Given the description of an element on the screen output the (x, y) to click on. 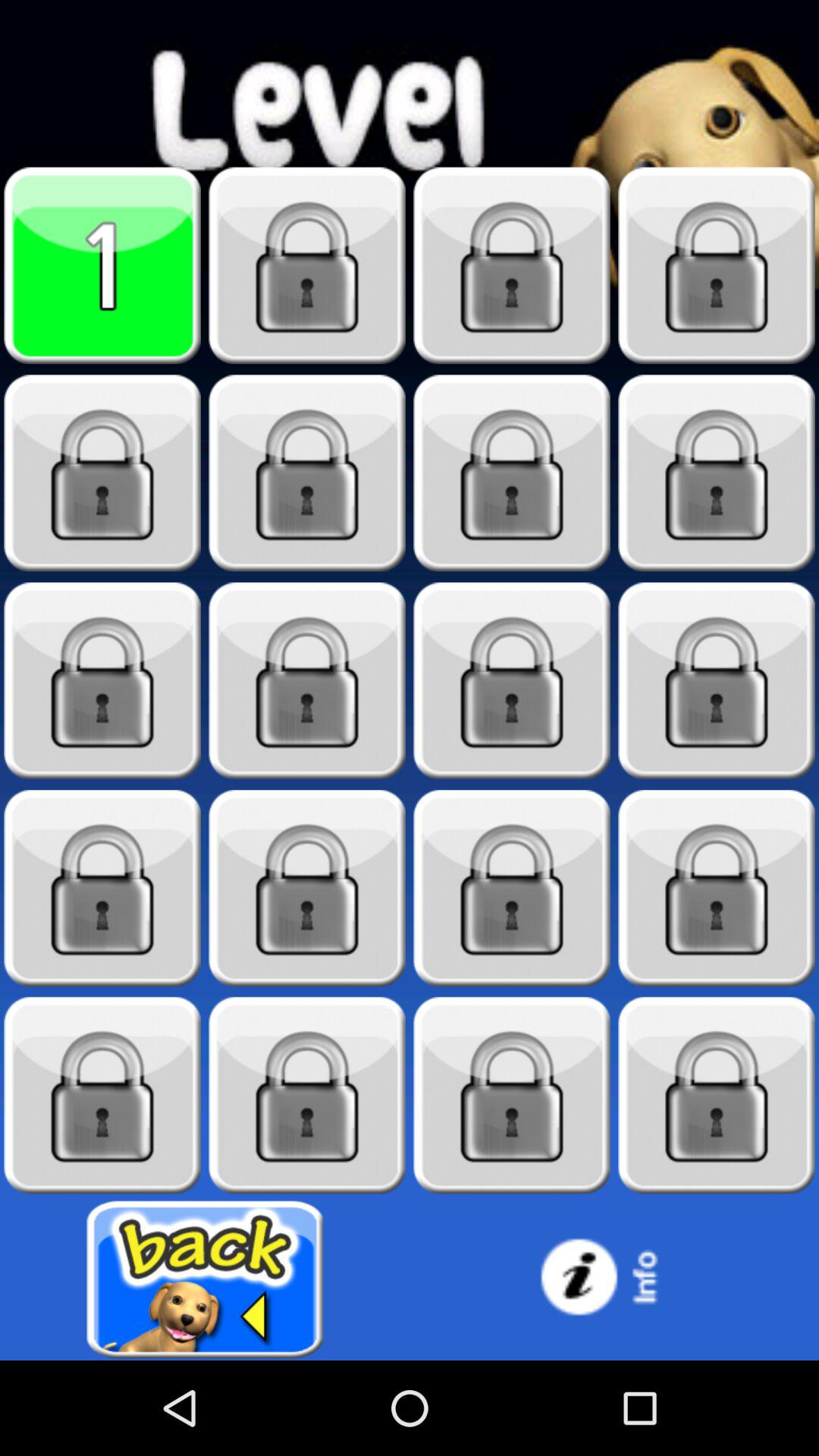
it is locked (716, 265)
